Given the description of an element on the screen output the (x, y) to click on. 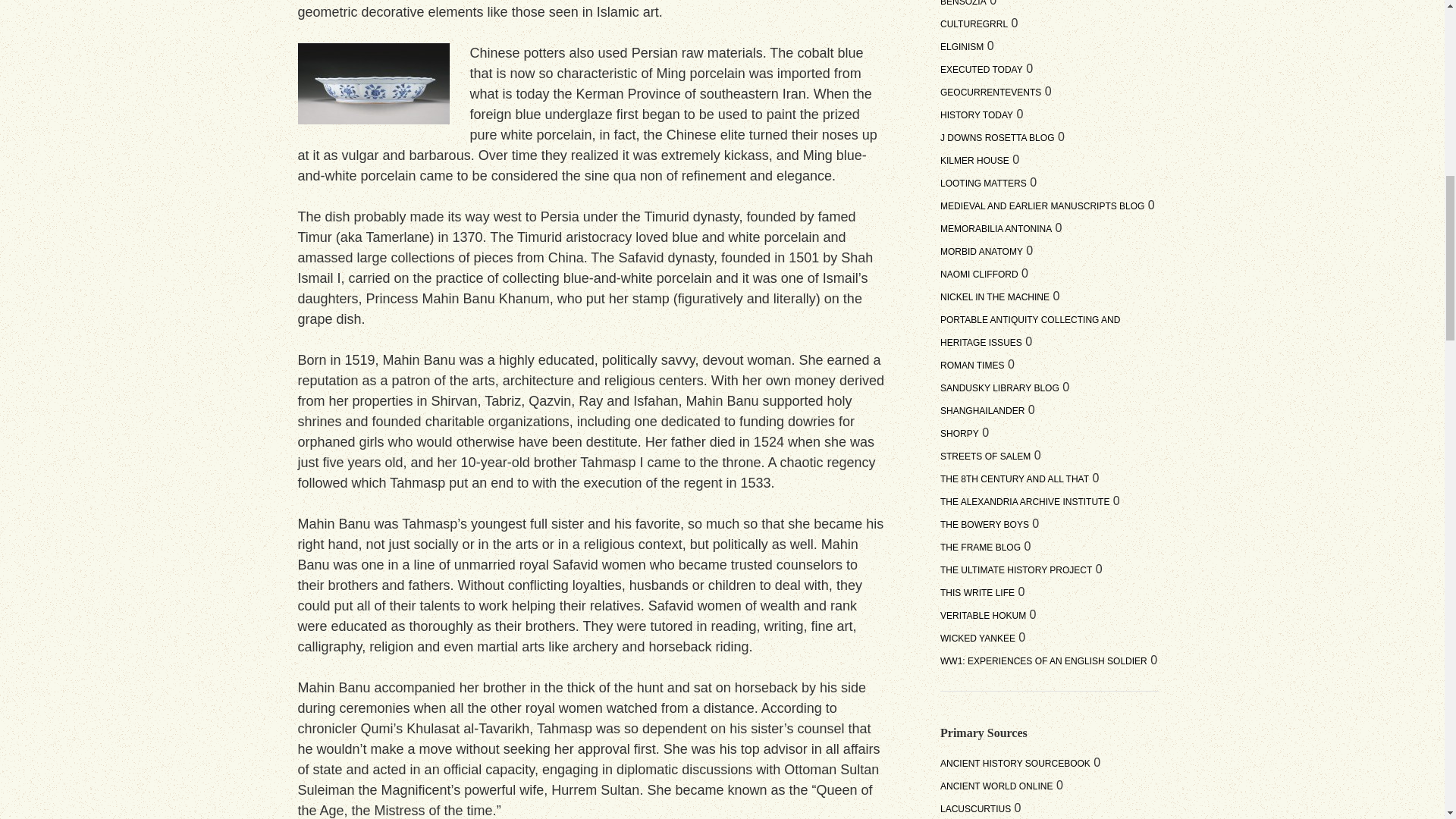
Mahin Banu Grape Dish, side view. Image courtesy Sotheby's. (372, 83)
